Given the description of an element on the screen output the (x, y) to click on. 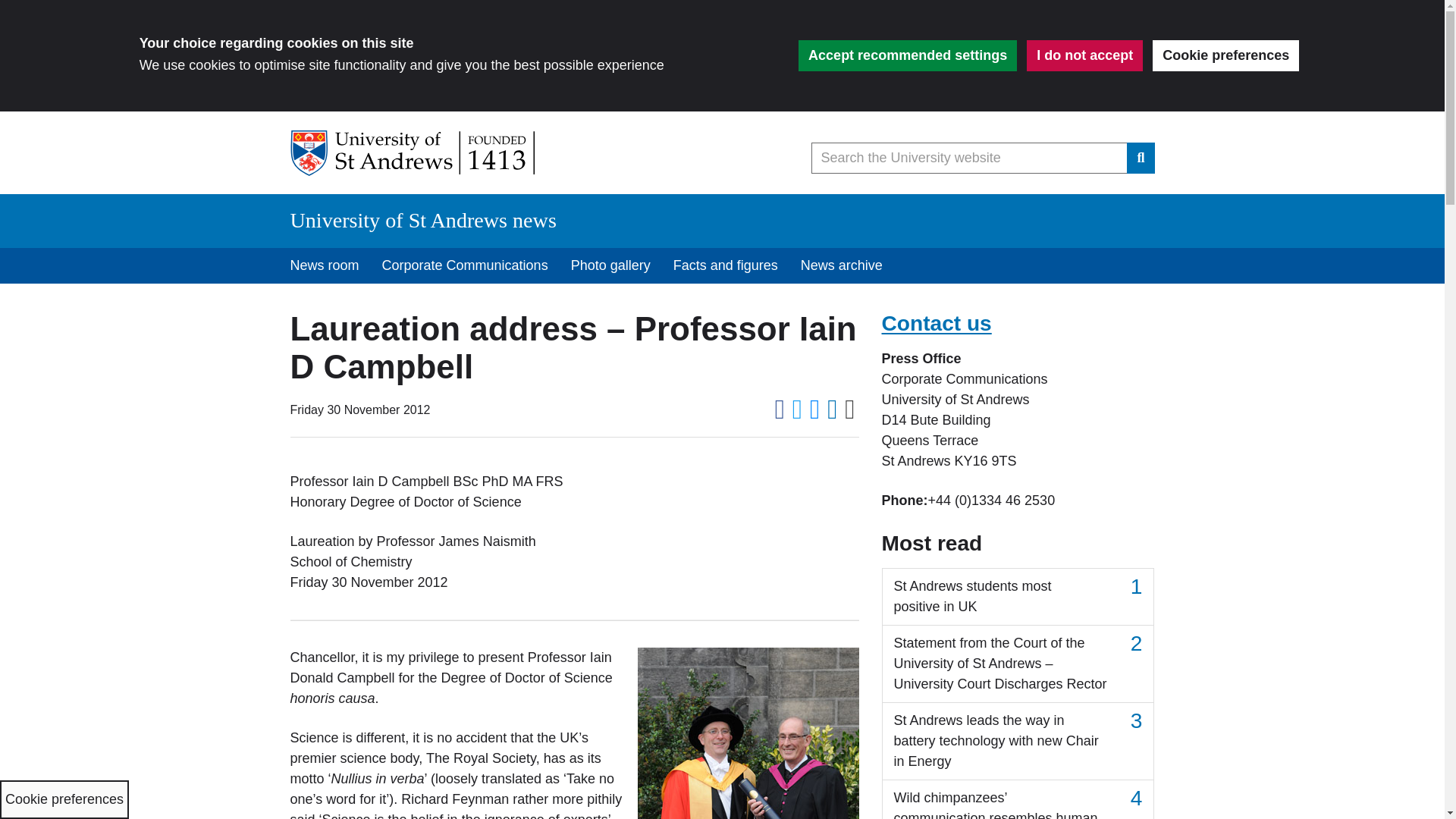
Contact us (935, 323)
Photo gallery (610, 265)
Facts and figures (725, 265)
Accept recommended settings (906, 55)
News archive (841, 265)
University of St Andrews news (422, 219)
Corporate Communications (465, 265)
St Andrews students most positive in UK (1017, 596)
I do not accept (1084, 55)
